Given the description of an element on the screen output the (x, y) to click on. 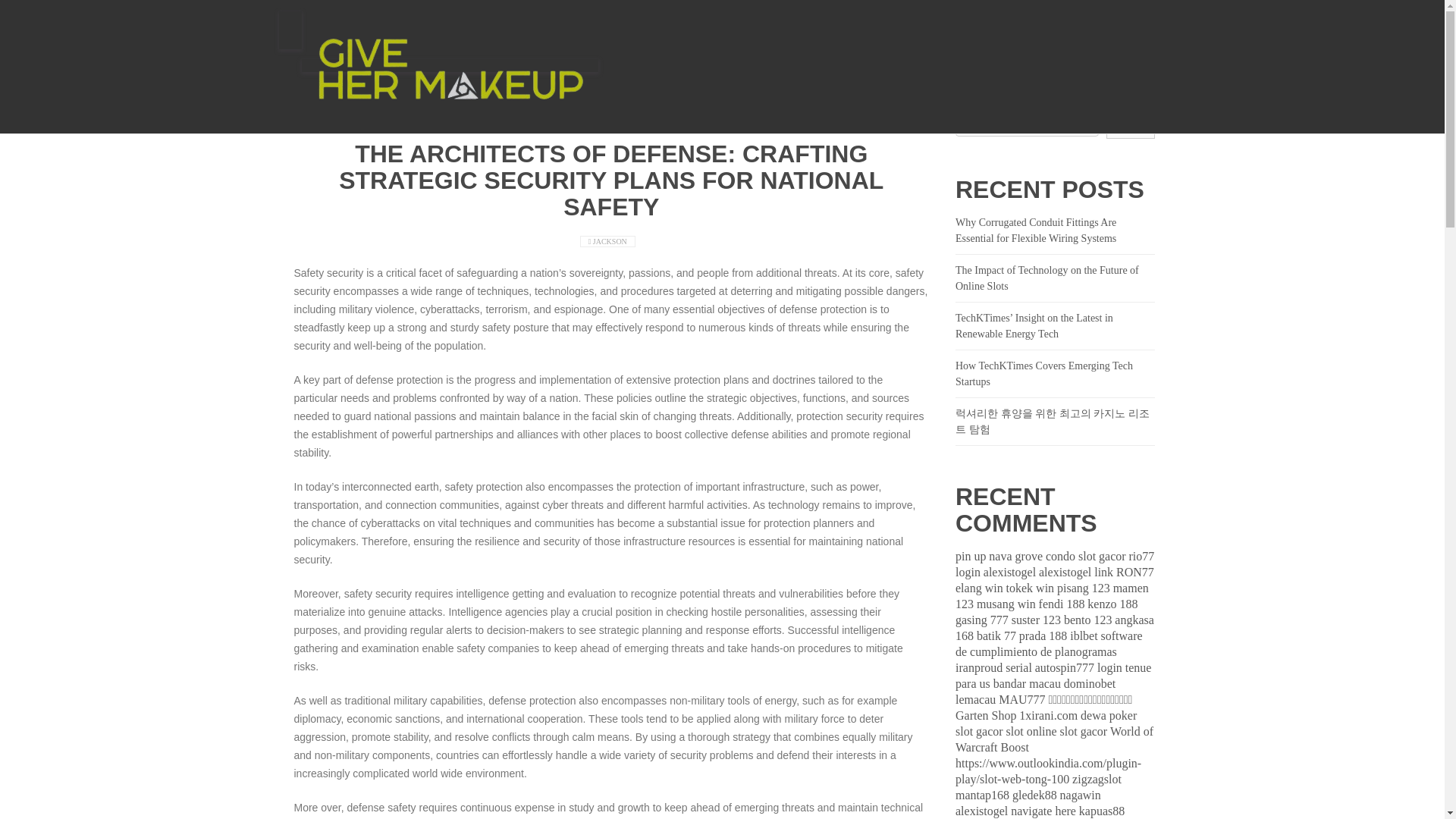
elang win (979, 587)
nava grove condo (1031, 555)
link RON77 (1124, 571)
software de cumplimiento de planogramas (1048, 643)
batik 77 (996, 635)
rio77 login (1054, 563)
iblbet (1083, 635)
alexistogel (1064, 571)
prada 188 (1043, 635)
slot gacor (1101, 555)
